Given the description of an element on the screen output the (x, y) to click on. 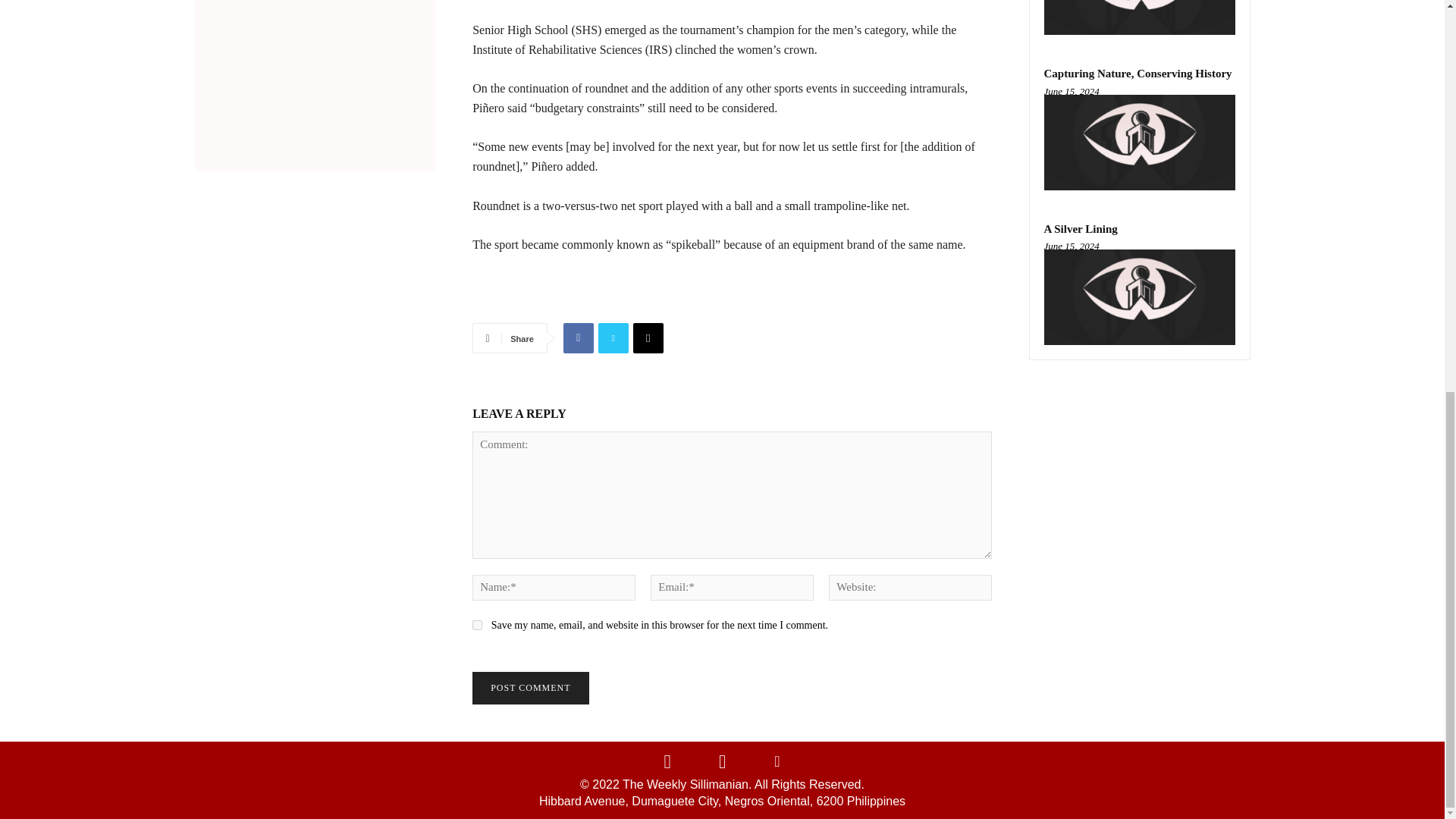
Facebook (578, 337)
yes (476, 624)
Post Comment (529, 687)
